Given the description of an element on the screen output the (x, y) to click on. 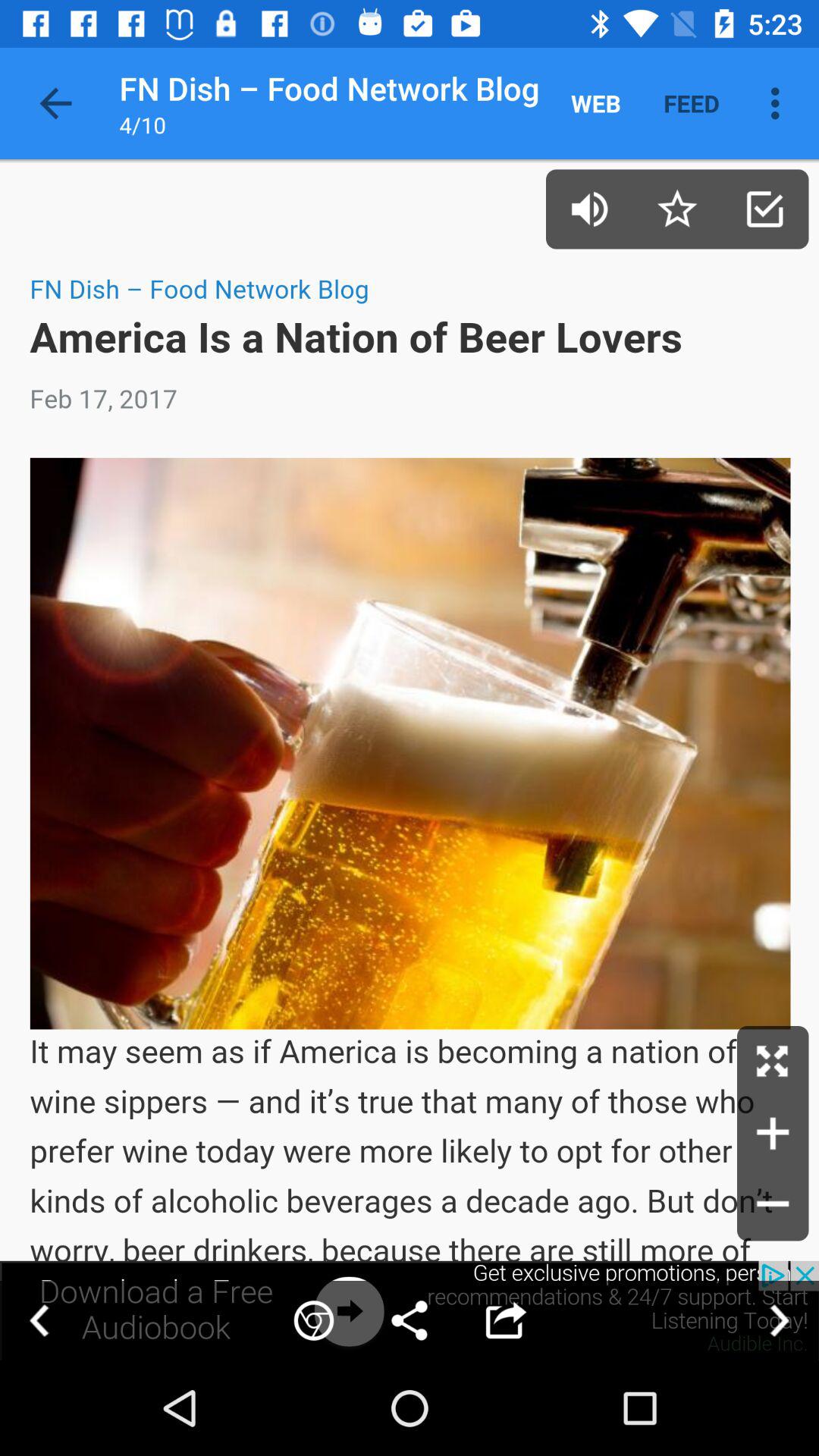
minus sign (772, 1205)
